Given the description of an element on the screen output the (x, y) to click on. 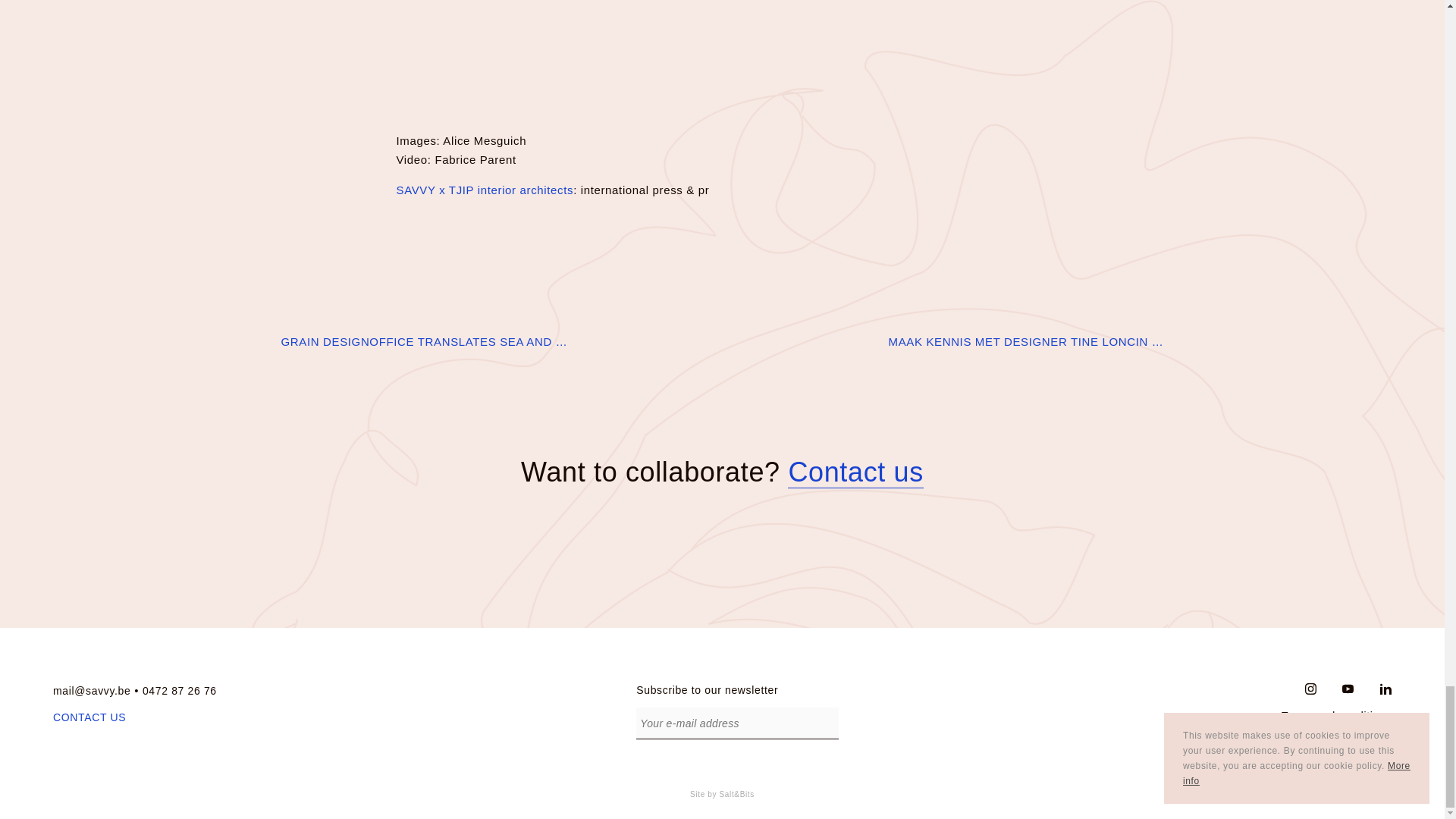
LinkedIn (1385, 688)
Instagram (1310, 688)
0472 87 26 76 (179, 690)
CONTACT US (108, 717)
Register (826, 725)
LinkedIn (1373, 690)
terms and conditions (1325, 715)
SAVVY x TJIP interior architects (484, 189)
Instagram (1301, 690)
Contact us (855, 472)
